Given the description of an element on the screen output the (x, y) to click on. 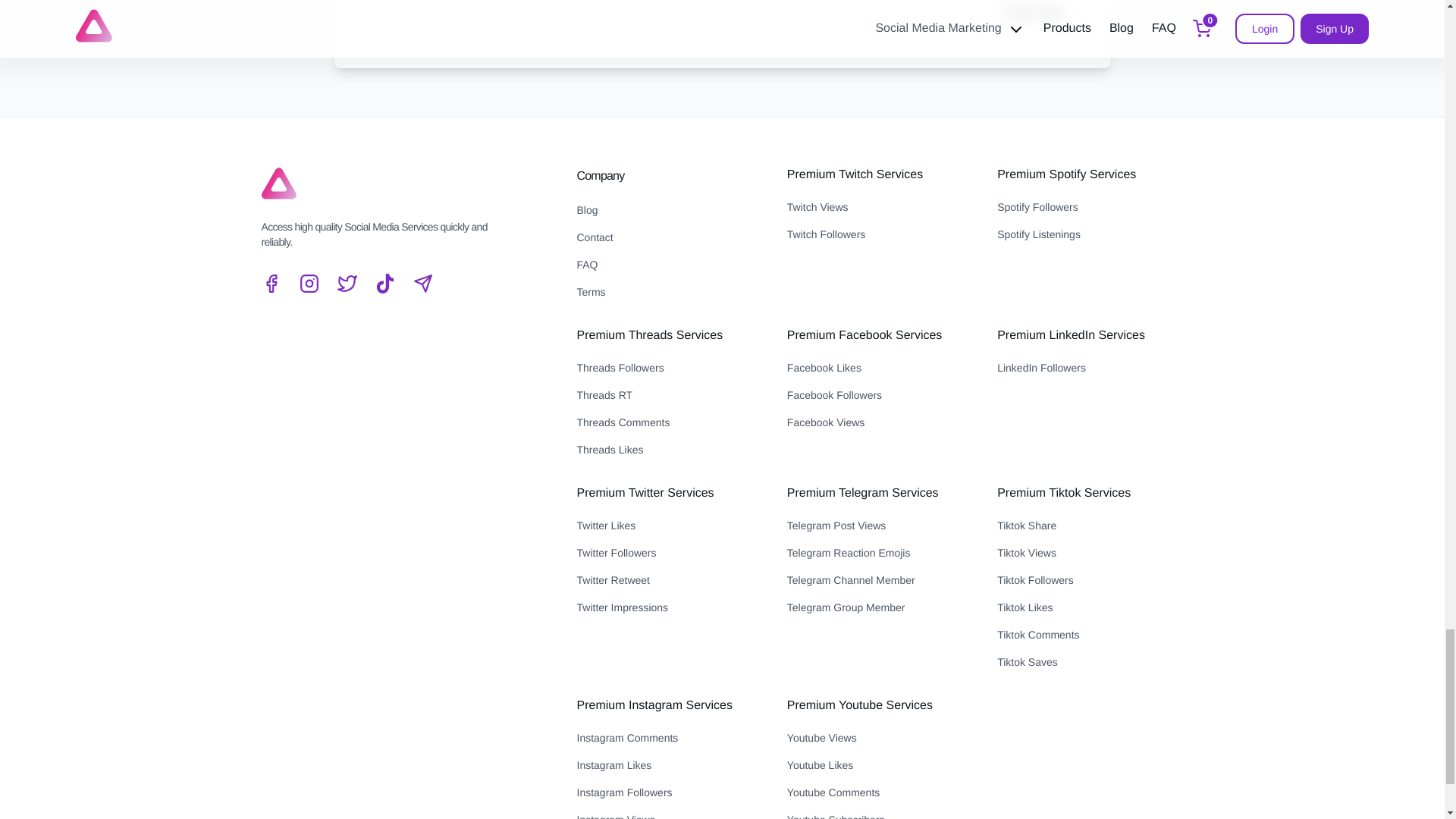
Facebook Likes (879, 367)
Twitter Retweet (668, 579)
Instagram (308, 283)
Facebook Views (879, 422)
Premium Twitch Services (855, 174)
Facebook (270, 283)
Contact (668, 237)
Twitch Followers (879, 233)
Premium Threads Services (649, 335)
Premium Twitter Services (644, 492)
